Given the description of an element on the screen output the (x, y) to click on. 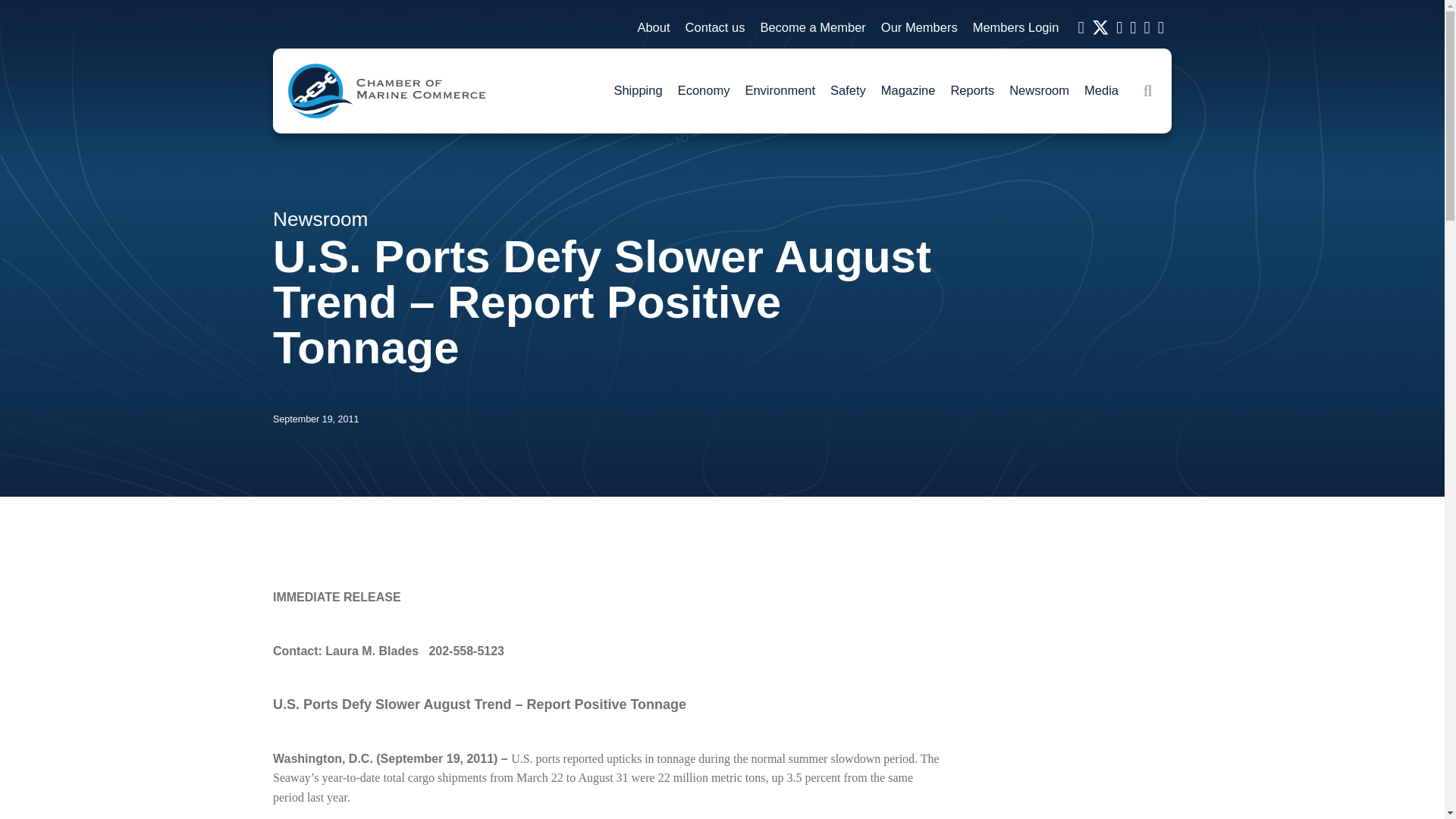
Contact us (715, 27)
Members Login (1016, 27)
About (652, 27)
Environment (779, 90)
Like us on twitter (1100, 27)
Become a Member (812, 27)
Our Members (919, 27)
Chamber of Marine Commerce (386, 90)
